Given the description of an element on the screen output the (x, y) to click on. 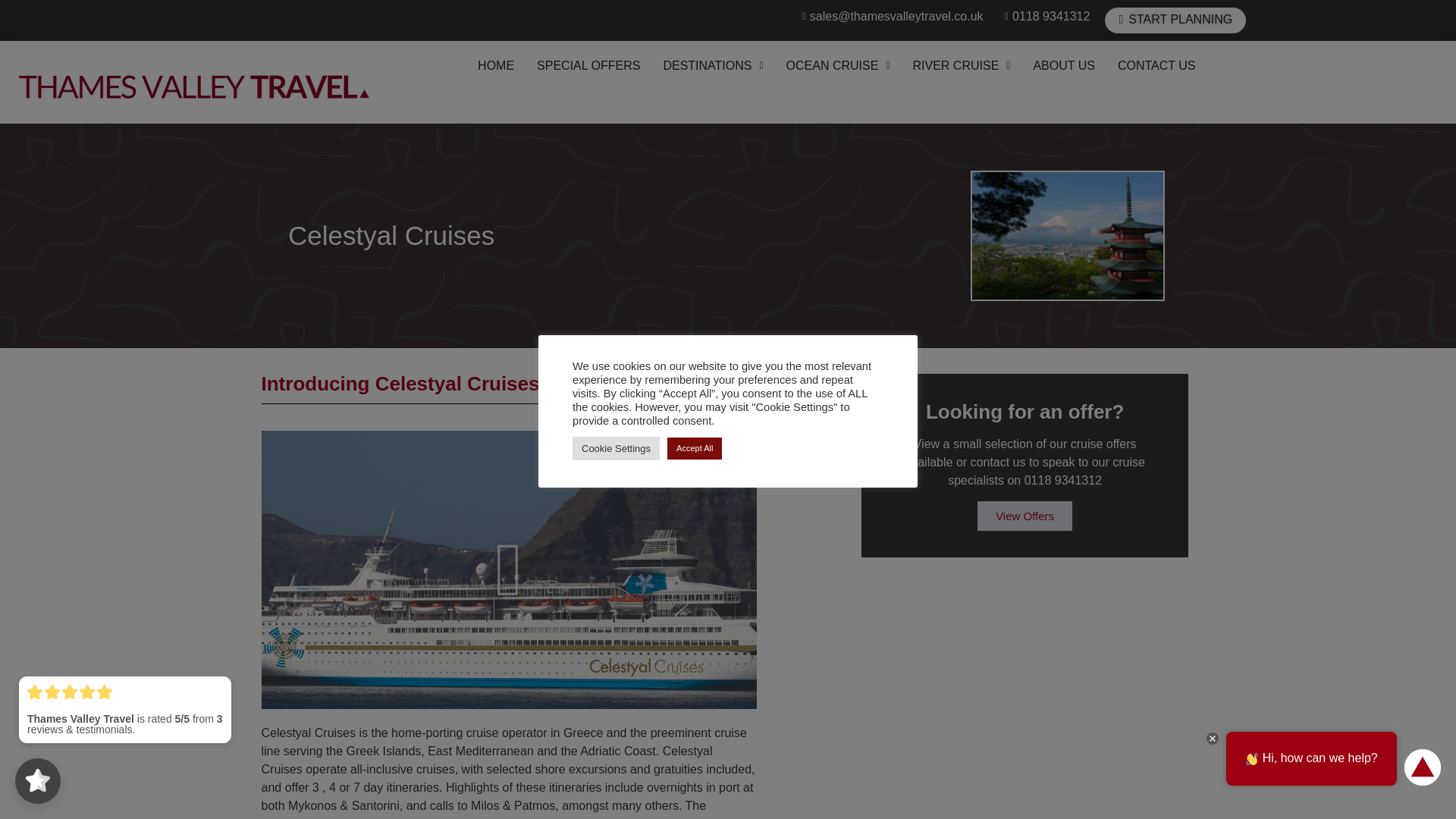
OCEAN CRUISE (837, 65)
0118 9341312 (1042, 16)
SPECIAL OFFERS (587, 65)
START PLANNING (1175, 20)
DESTINATIONS (712, 65)
HOME (495, 65)
